Given the description of an element on the screen output the (x, y) to click on. 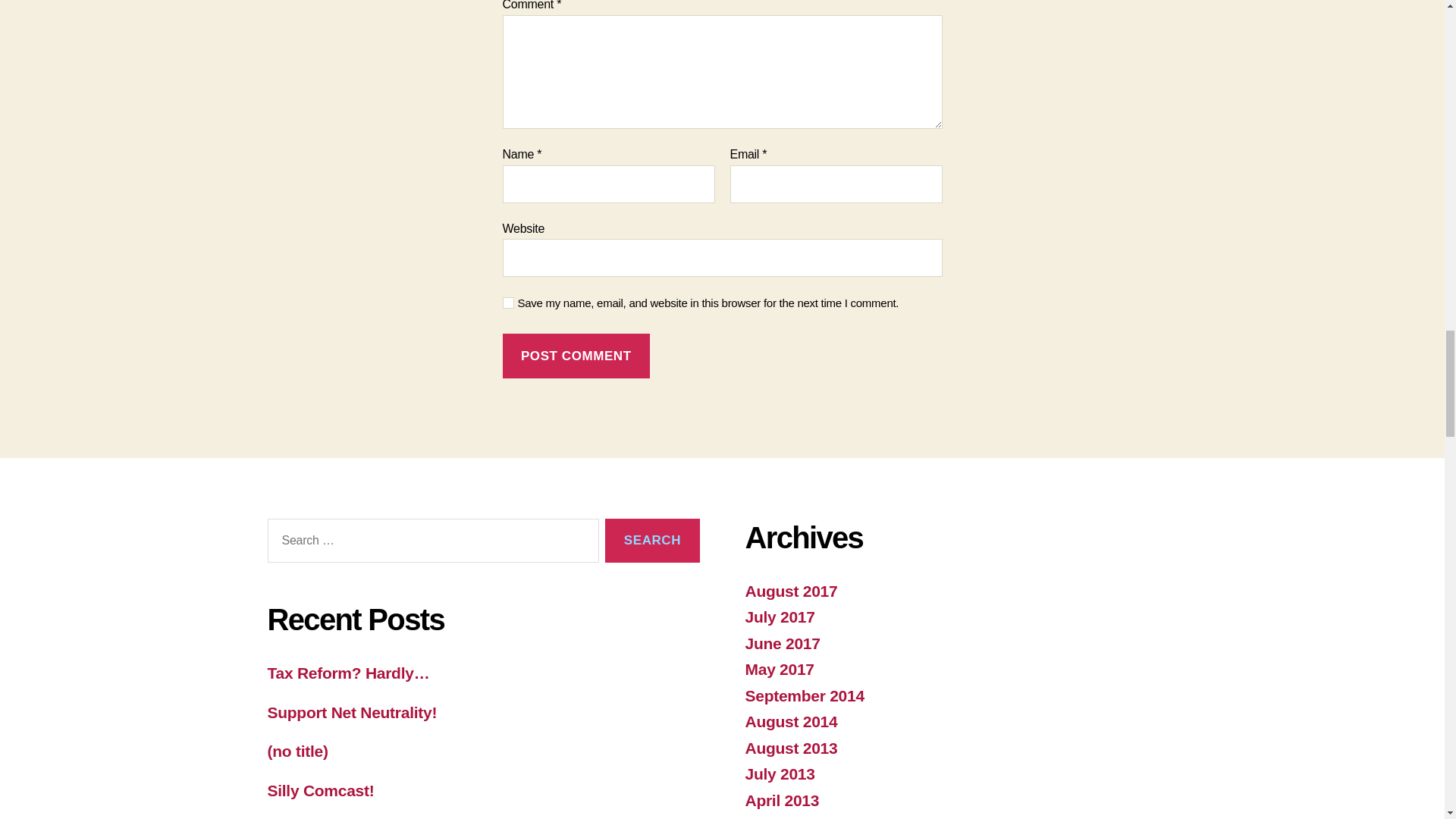
Search (651, 540)
Post Comment (575, 355)
Search (651, 540)
June 2017 (781, 642)
Silly Comcast! (320, 790)
July 2017 (778, 616)
Post Comment (575, 355)
August 2017 (790, 590)
Support Net Neutrality! (351, 712)
yes (507, 302)
